Given the description of an element on the screen output the (x, y) to click on. 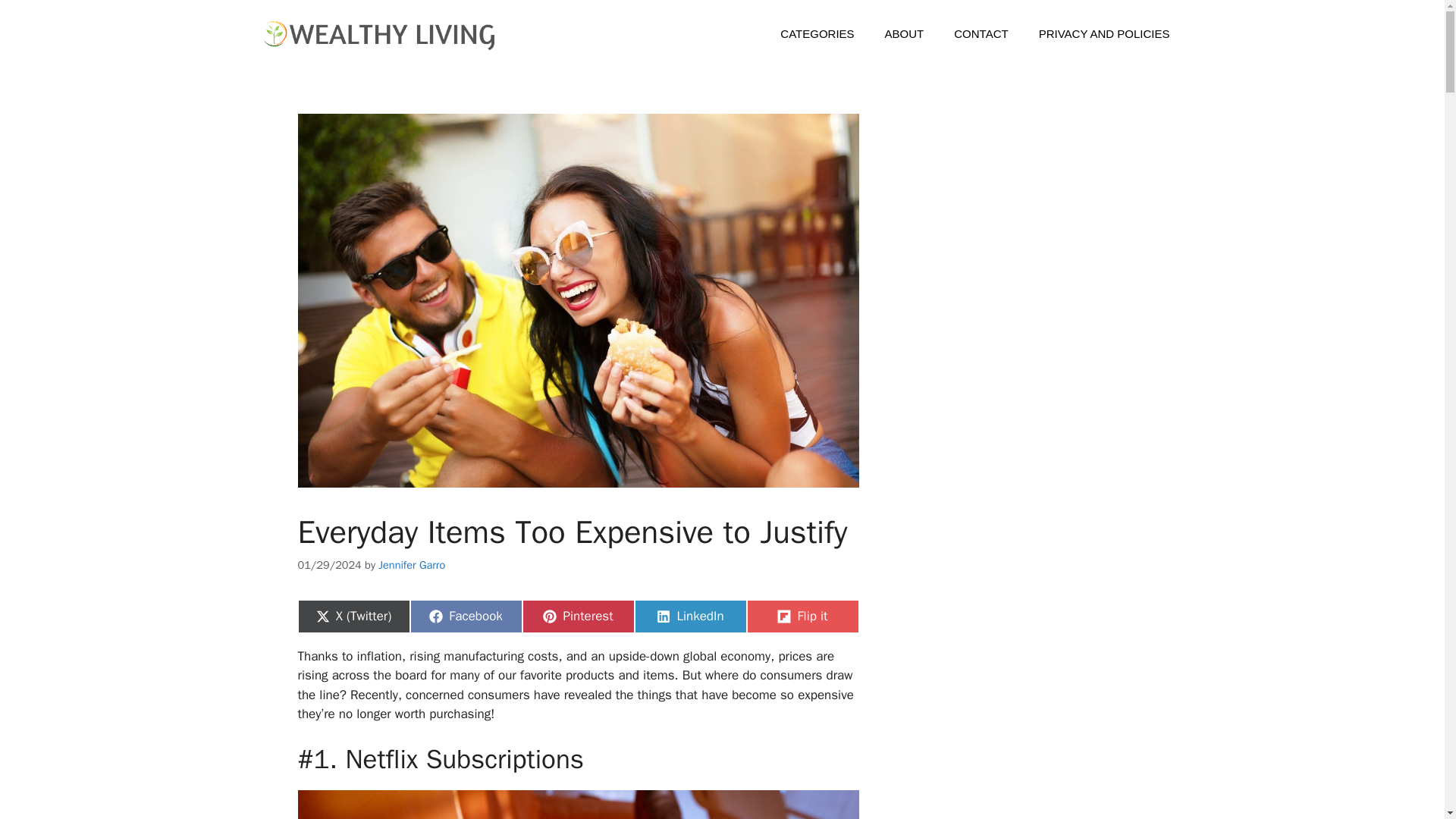
Facebook (465, 616)
Pinterest (577, 616)
CONTACT (981, 34)
LinkedIn (689, 616)
PRIVACY AND POLICIES (1104, 34)
CATEGORIES (817, 34)
View all posts by Jennifer Garro (411, 564)
ABOUT (904, 34)
Jennifer Garro (411, 564)
